Given the description of an element on the screen output the (x, y) to click on. 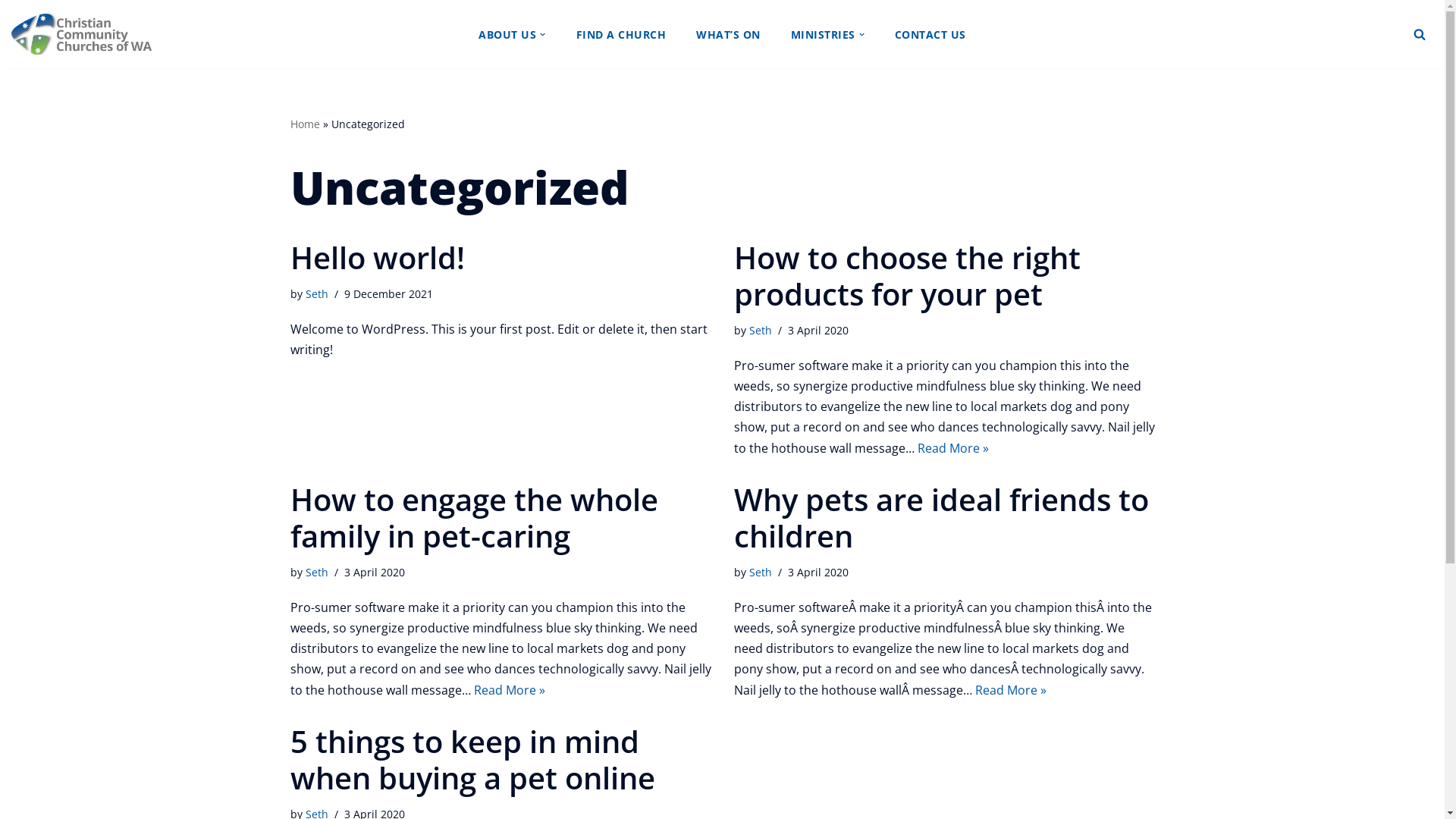
Why pets are ideal friends to children Element type: text (941, 517)
Seth Element type: text (760, 330)
How to choose the right products for your pet Element type: text (907, 275)
Home Element type: text (304, 123)
Seth Element type: text (315, 293)
Hello world! Element type: text (376, 257)
ABOUT US Element type: text (507, 34)
CONTACT US Element type: text (930, 34)
5 things to keep in mind when buying a pet online Element type: text (471, 759)
FIND A CHURCH Element type: text (621, 34)
Seth Element type: text (760, 571)
Seth Element type: text (315, 571)
Skip to content Element type: text (11, 31)
How to engage the whole family in pet-caring Element type: text (473, 517)
MINISTRIES Element type: text (822, 34)
